Given the description of an element on the screen output the (x, y) to click on. 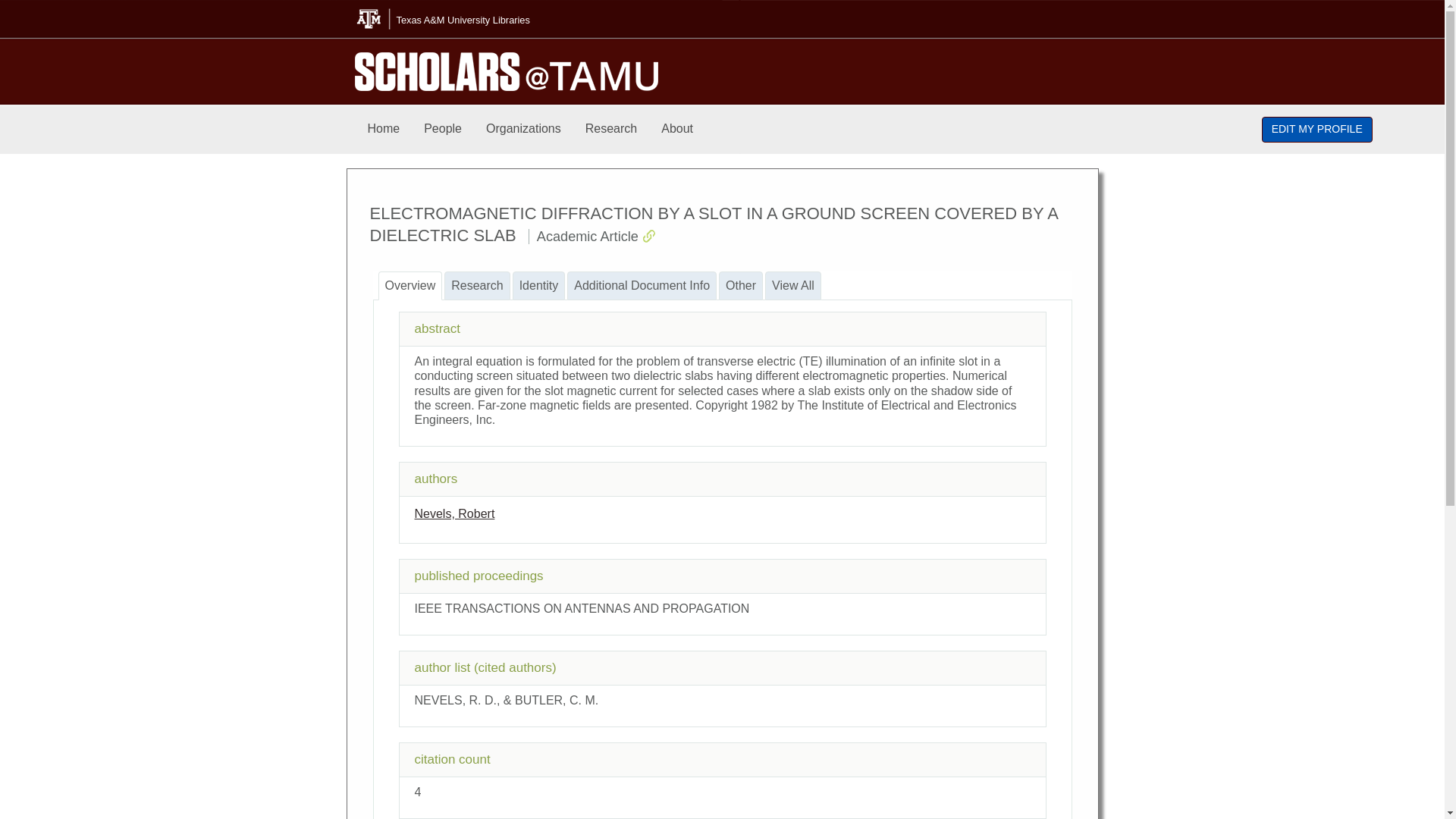
People menu item (443, 128)
People (443, 128)
EDIT MY PROFILE (1317, 129)
Research menu item (611, 128)
About (676, 128)
Home menu item (383, 128)
Research (611, 128)
Home (383, 128)
About menu item (676, 128)
Organizations (523, 128)
Nevels, Robert (454, 513)
Organizations menu item (523, 128)
author name (454, 513)
